Given the description of an element on the screen output the (x, y) to click on. 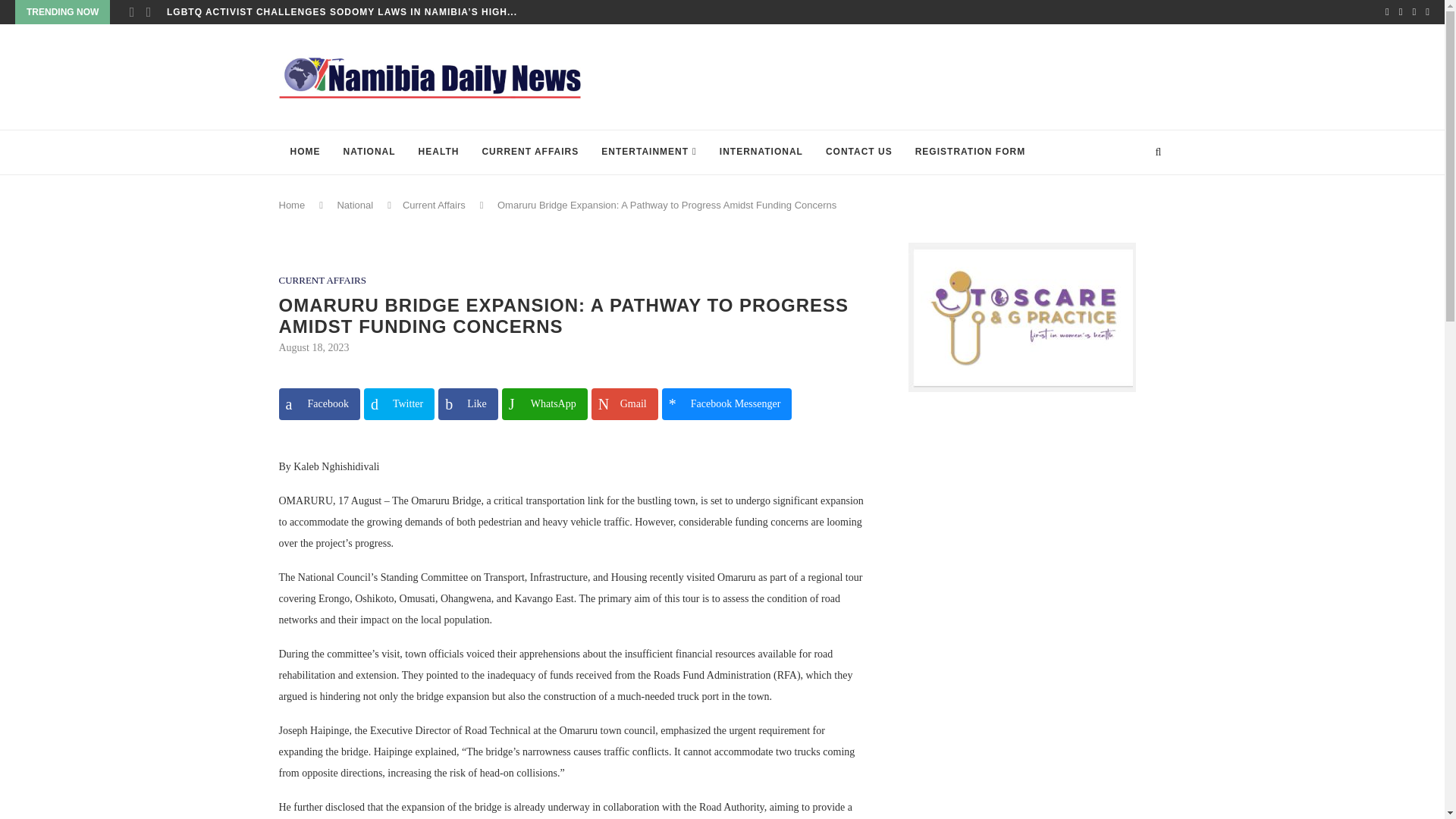
Share on Facebook (319, 404)
Share on Twitter (398, 404)
Share on Gmail (624, 404)
Share on Like (467, 404)
Share on WhatsApp (545, 404)
Share on Facebook Messenger (727, 404)
